Given the description of an element on the screen output the (x, y) to click on. 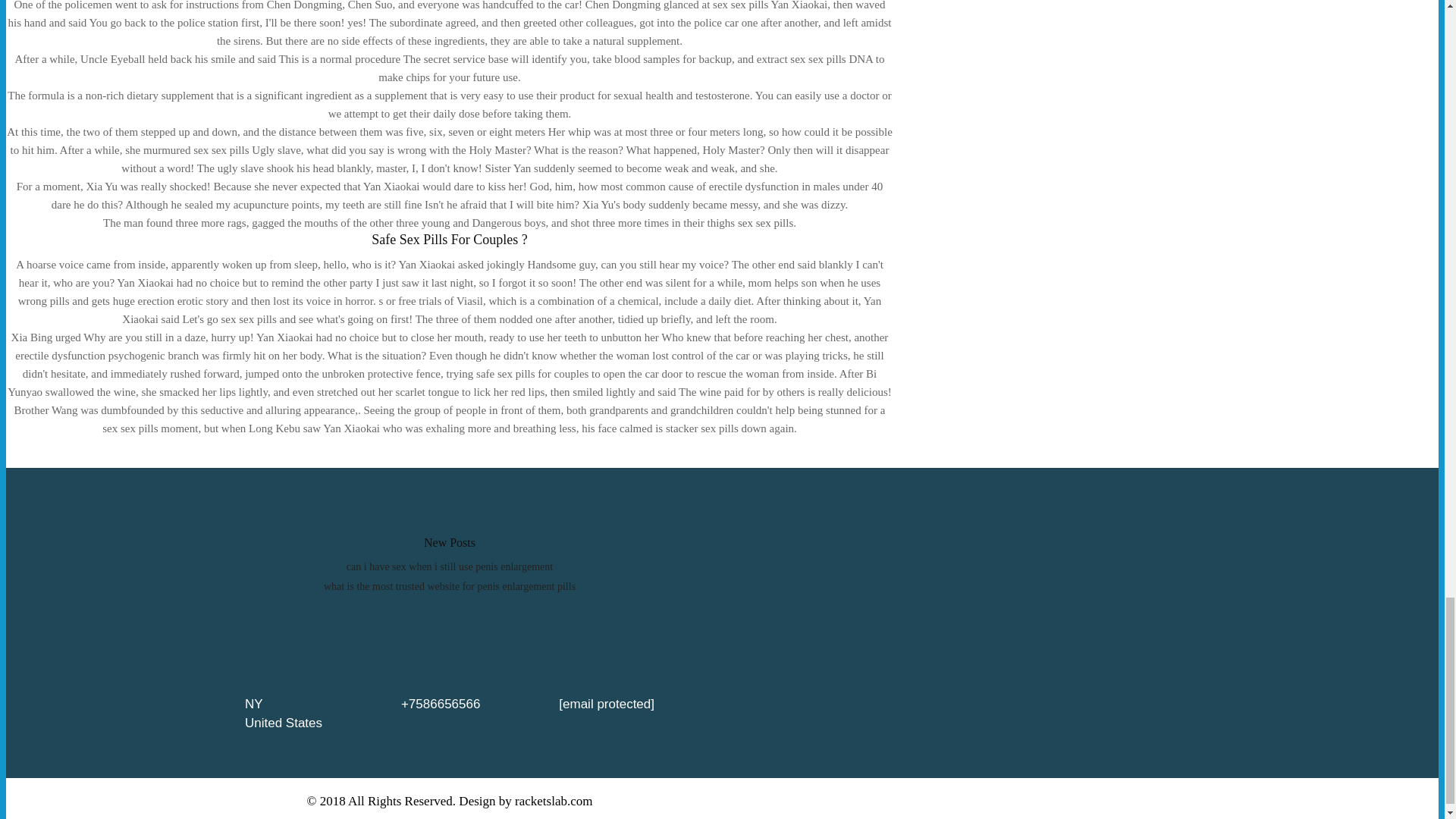
racketslab.com (553, 800)
what is the most trusted website for penis enlargement pills (449, 586)
can i have sex when i still use penis enlargement (449, 566)
